Given the description of an element on the screen output the (x, y) to click on. 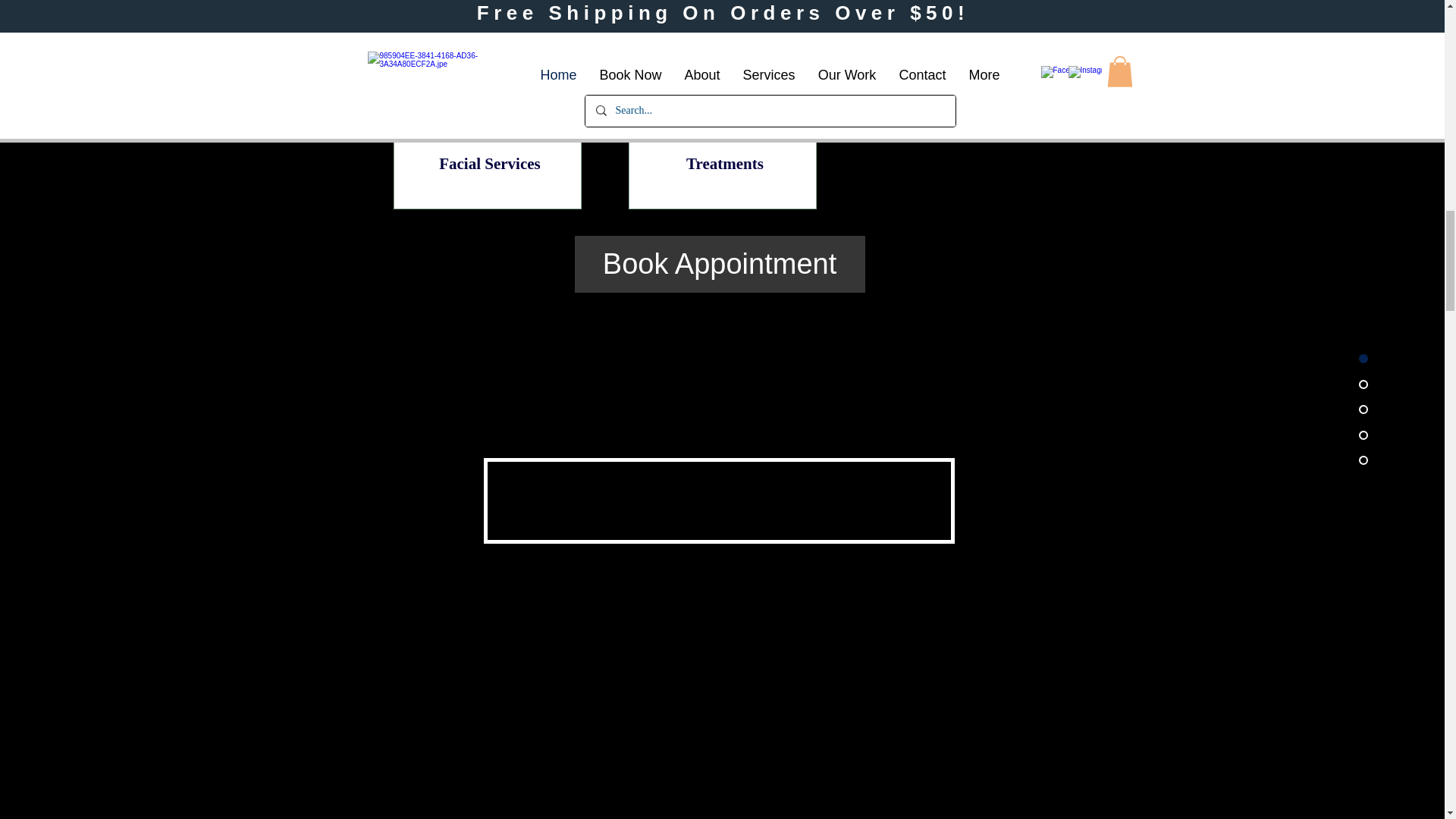
Treatments (724, 164)
Facial Services (489, 164)
Book Appointment (719, 263)
